Given the description of an element on the screen output the (x, y) to click on. 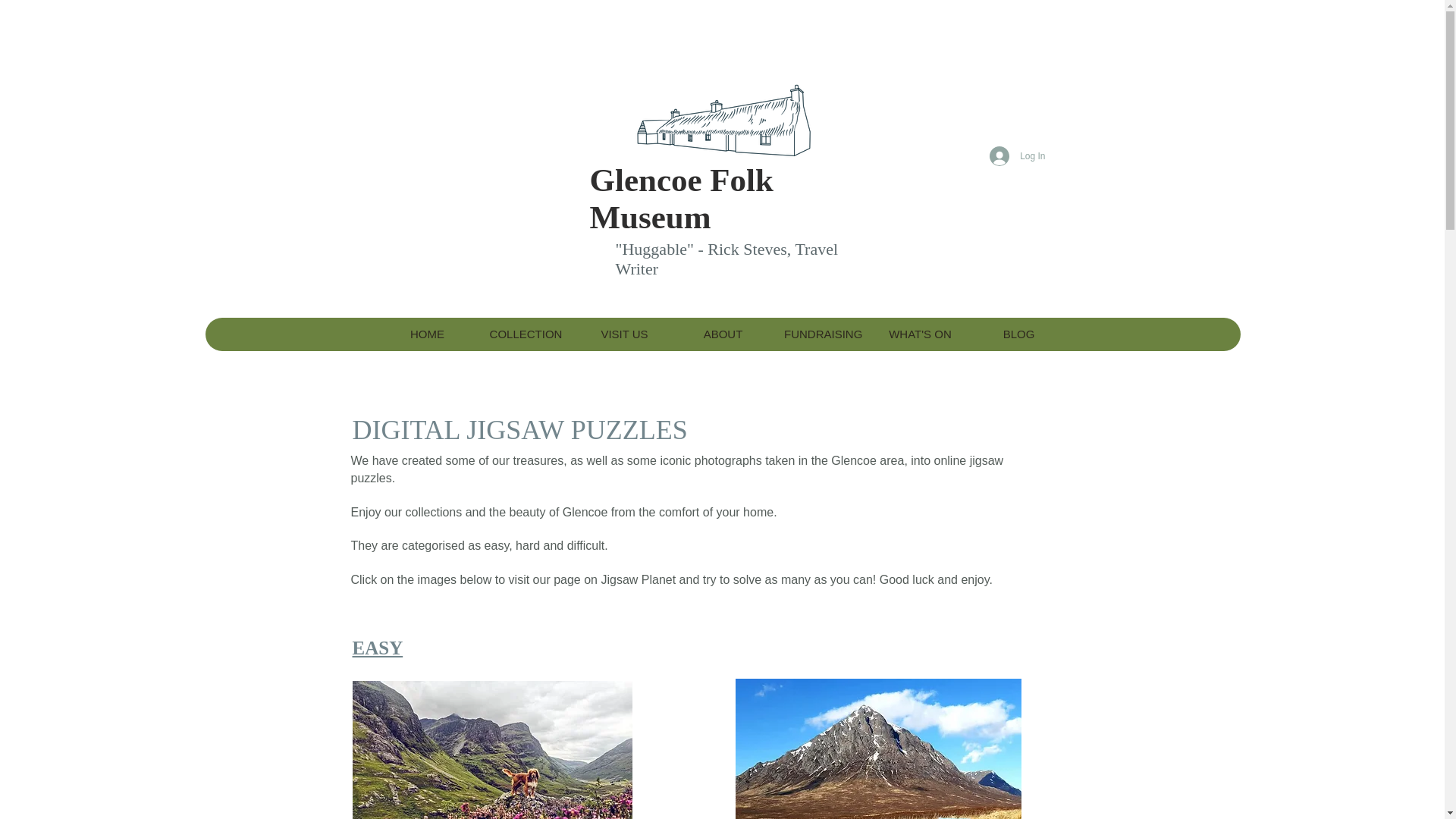
Log In (1016, 155)
ABOUT (721, 334)
HOME (426, 334)
VISIT US (623, 334)
BLOG (1018, 334)
WHAT'S ON (919, 334)
COLLECTION (525, 334)
FUNDRAISING (820, 334)
